Given the description of an element on the screen output the (x, y) to click on. 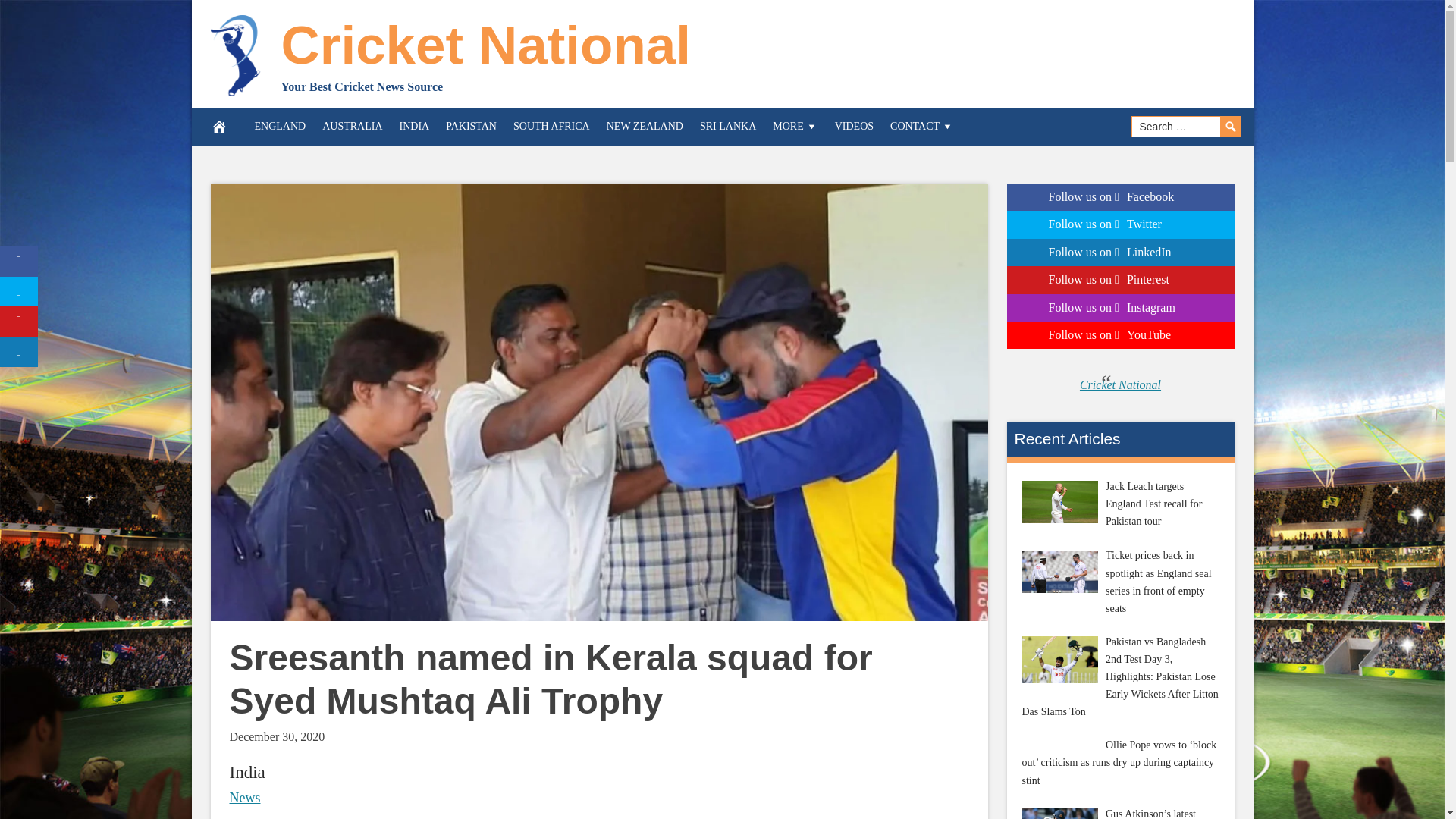
SRI LANKA (727, 126)
PAKISTAN (471, 126)
Cricket National (485, 45)
ENGLAND (280, 126)
India (246, 772)
SOUTH AFRICA (551, 126)
INDIA (414, 126)
MORE (794, 126)
NEW ZEALAND (644, 126)
